Given the description of an element on the screen output the (x, y) to click on. 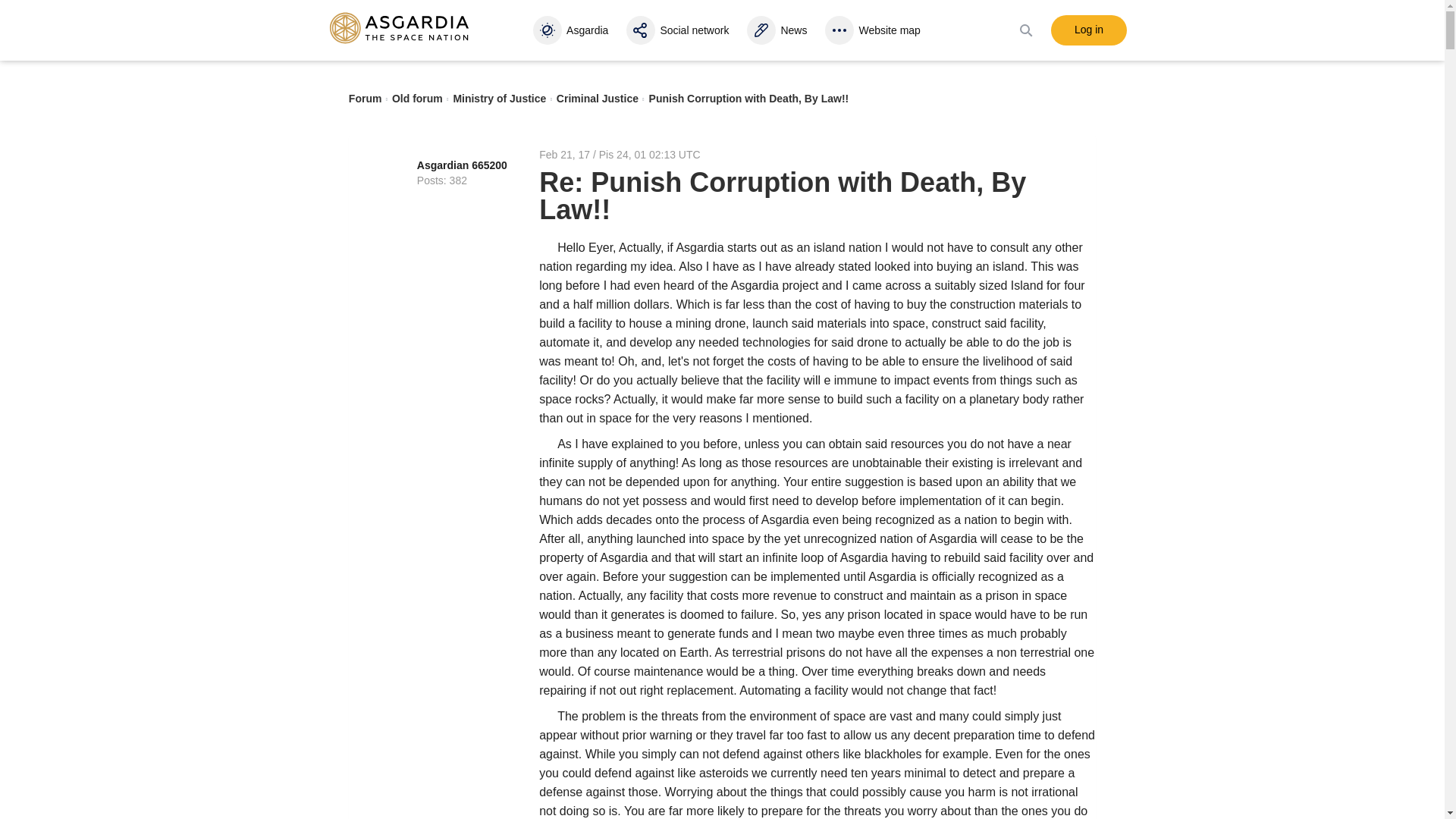
More (874, 30)
Log in (1088, 30)
Social (679, 30)
Website map (874, 30)
News (778, 30)
Asgardia (572, 30)
Asgardia (572, 30)
Social network (679, 30)
News (778, 30)
